Given the description of an element on the screen output the (x, y) to click on. 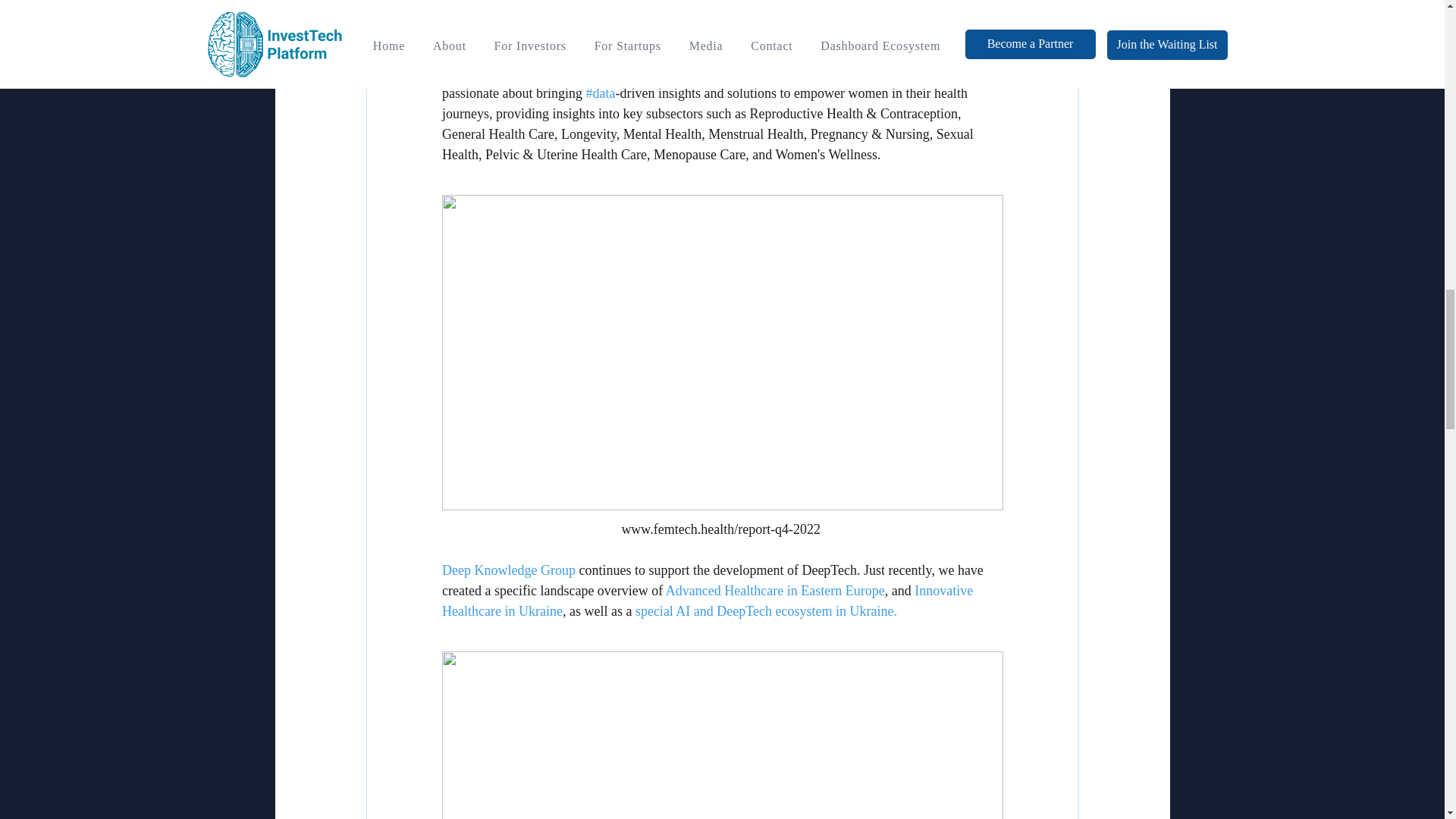
Deep Knowledge Group (893, 72)
Advanced Healthcare in Eastern Europe (774, 590)
Innovative Healthcare in Ukraine (708, 601)
Deep Knowledge Group (508, 570)
special AI and DeepTech ecosystem in Ukraine. (765, 611)
FemTech Analytics (682, 72)
